Given the description of an element on the screen output the (x, y) to click on. 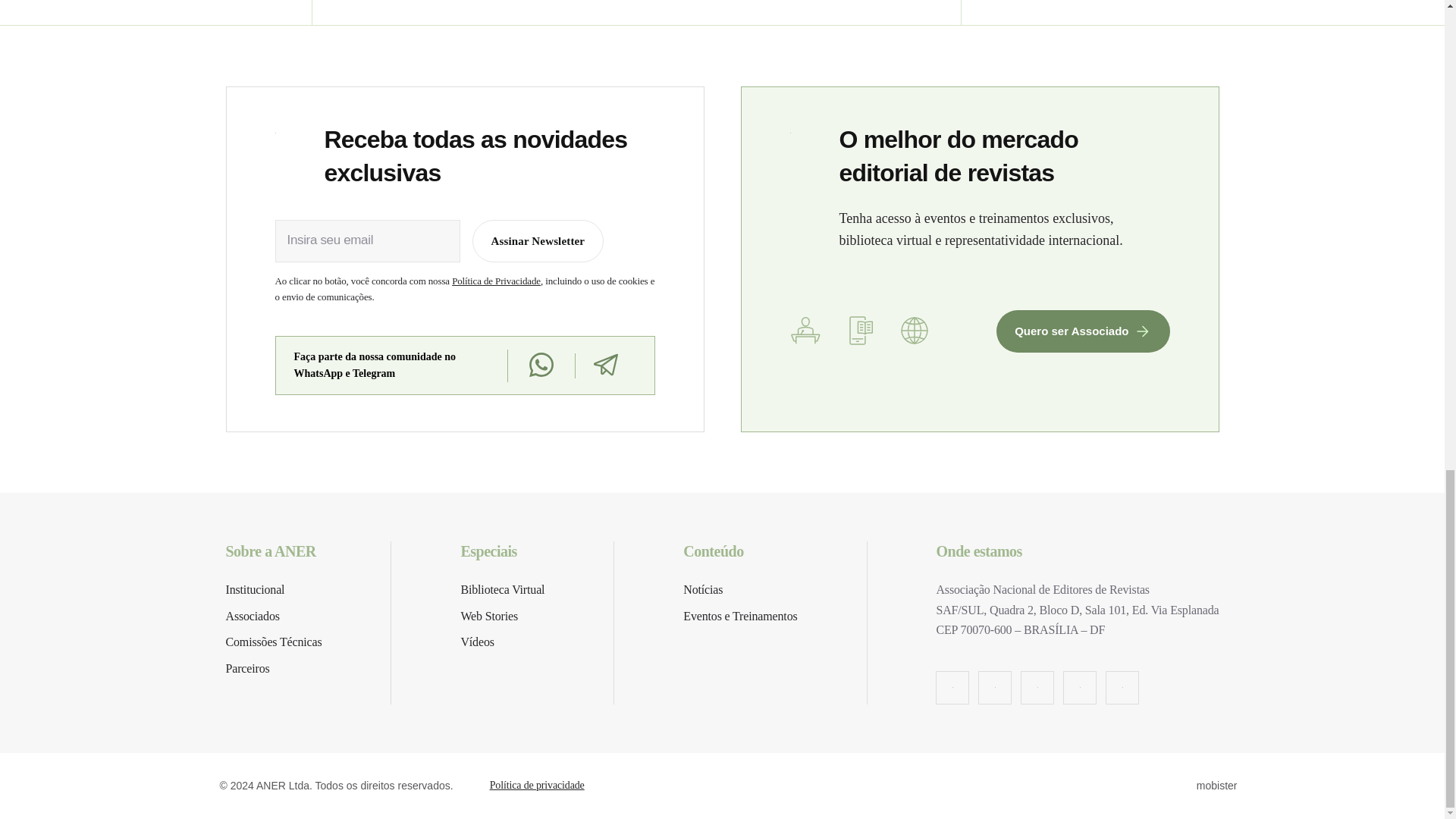
Telegram (605, 364)
Whatsapp (539, 365)
